Given the description of an element on the screen output the (x, y) to click on. 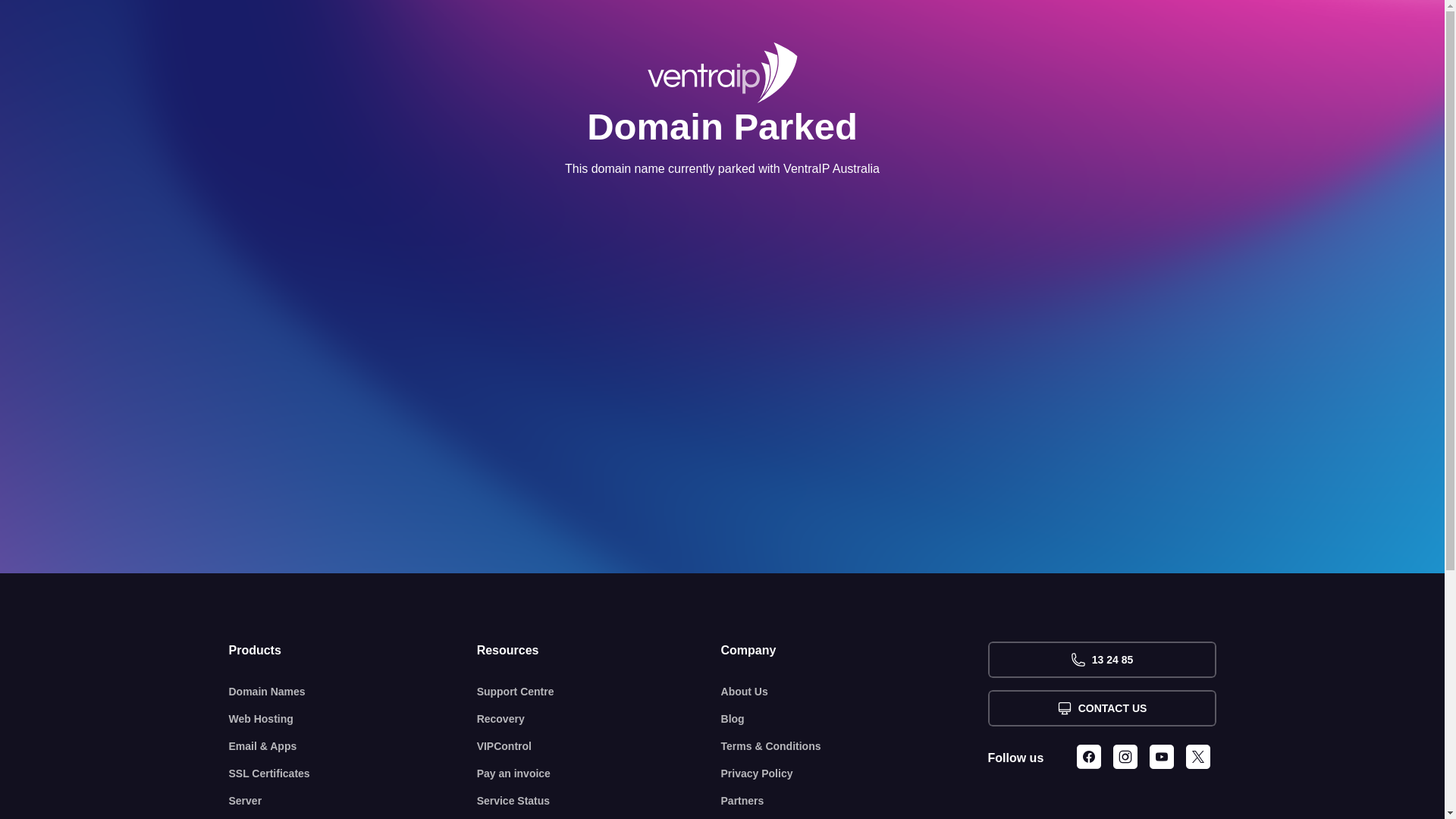
CONTACT US Element type: text (1101, 708)
Pay an invoice Element type: text (598, 773)
Server Element type: text (352, 800)
SSL Certificates Element type: text (352, 773)
Blog Element type: text (854, 718)
Service Status Element type: text (598, 800)
Email & Apps Element type: text (352, 745)
Web Hosting Element type: text (352, 718)
Domain Names Element type: text (352, 691)
Terms & Conditions Element type: text (854, 745)
13 24 85 Element type: text (1101, 659)
Privacy Policy Element type: text (854, 773)
Recovery Element type: text (598, 718)
VIPControl Element type: text (598, 745)
Partners Element type: text (854, 800)
About Us Element type: text (854, 691)
Support Centre Element type: text (598, 691)
